Given the description of an element on the screen output the (x, y) to click on. 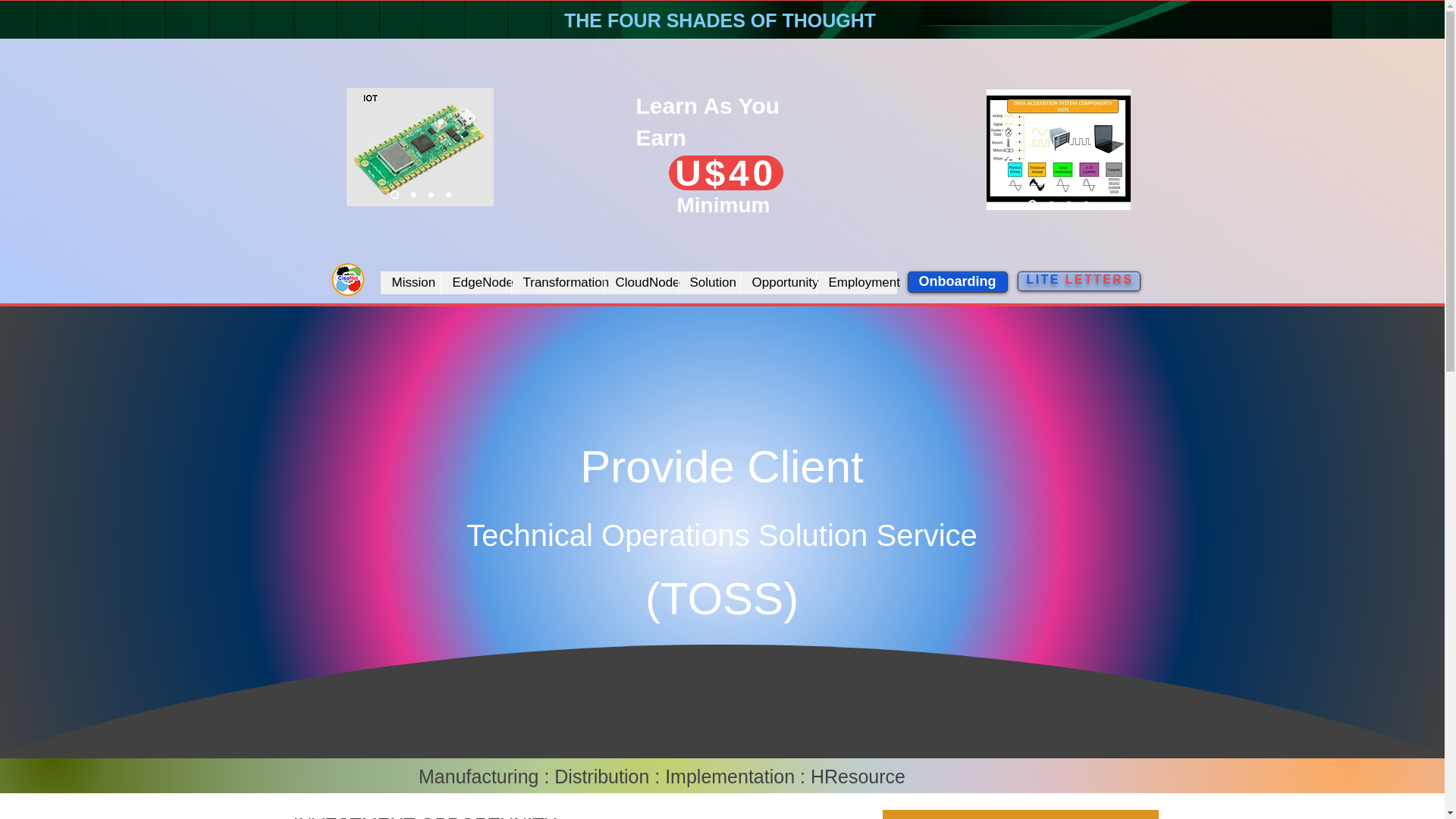
Transformation (557, 282)
Solution (708, 282)
Onboarding (956, 281)
Technical Operations Solution Service (720, 535)
EdgeNode (475, 282)
LETTERS (1099, 278)
Provide Client (721, 466)
CloudNode (641, 282)
Mission (410, 282)
Opportunity (777, 282)
